Given the description of an element on the screen output the (x, y) to click on. 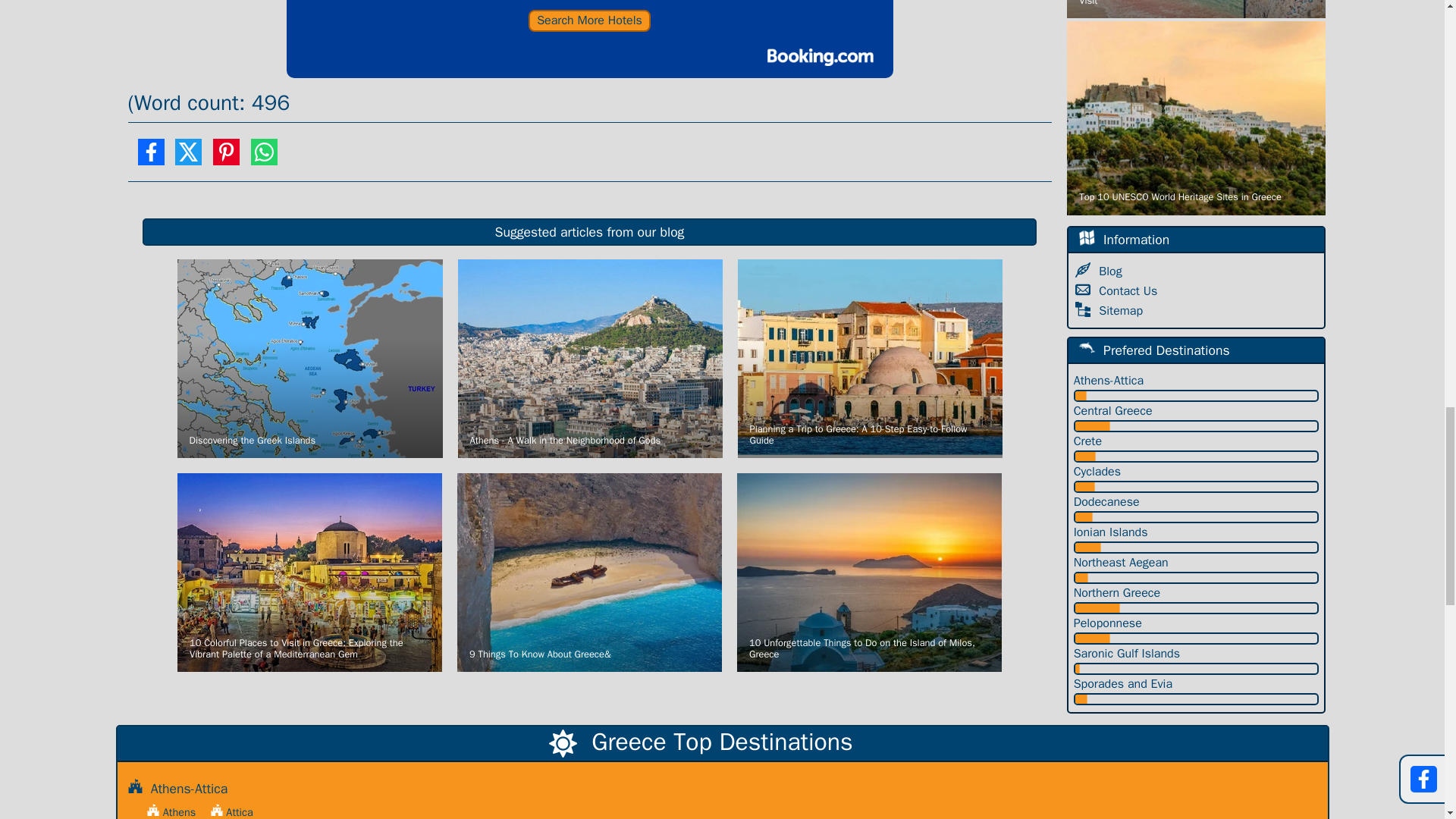
Facebook (150, 157)
Twitter (188, 157)
10 Unforgettable Things to Do on the Island of Milos, Greece (869, 572)
WhatsApp (264, 157)
Planning a Trip to Greece: A 10-Step Easy-to-Follow Guide (869, 358)
Planning a Trip to Greece: A 10-Step Easy-to-Follow Guide (869, 358)
Athens - A Walk in the Neighborhood of Gods (589, 358)
Discovering the Greek Islands (309, 358)
Top 10 UNESCO World Heritage Sites in Greece (1195, 118)
10 Unforgettable Things to Do on the Island of Milos, Greece (869, 572)
Highlights of Greece: What Not to Miss for Your First Visit (1195, 9)
Discovering the Greek Islands (309, 358)
Athens - A Walk in the Neighborhood of Gods (589, 358)
